Given the description of an element on the screen output the (x, y) to click on. 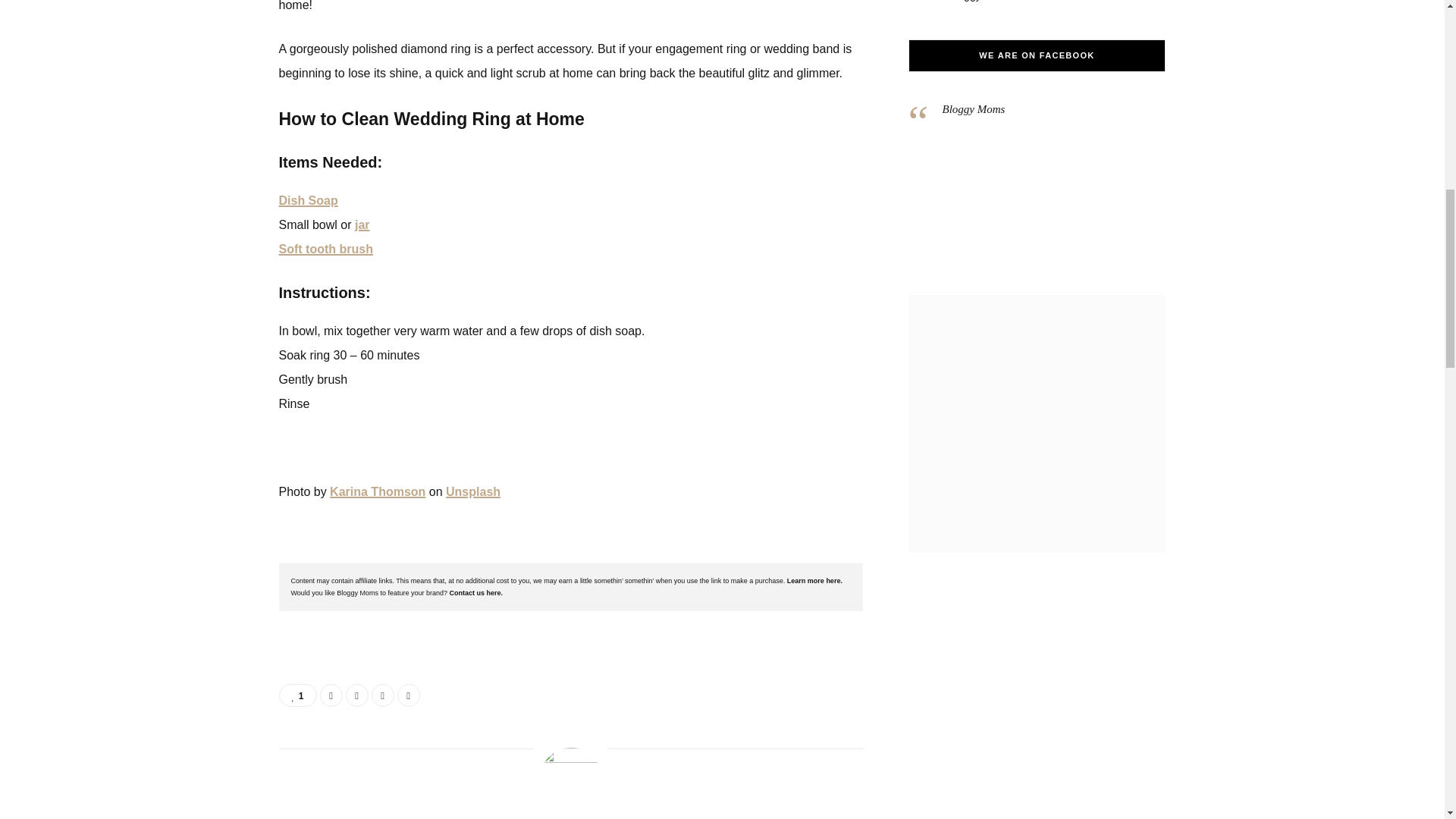
Facebook (331, 694)
Email (408, 694)
Pinterest (382, 694)
Twitter (357, 694)
